Given the description of an element on the screen output the (x, y) to click on. 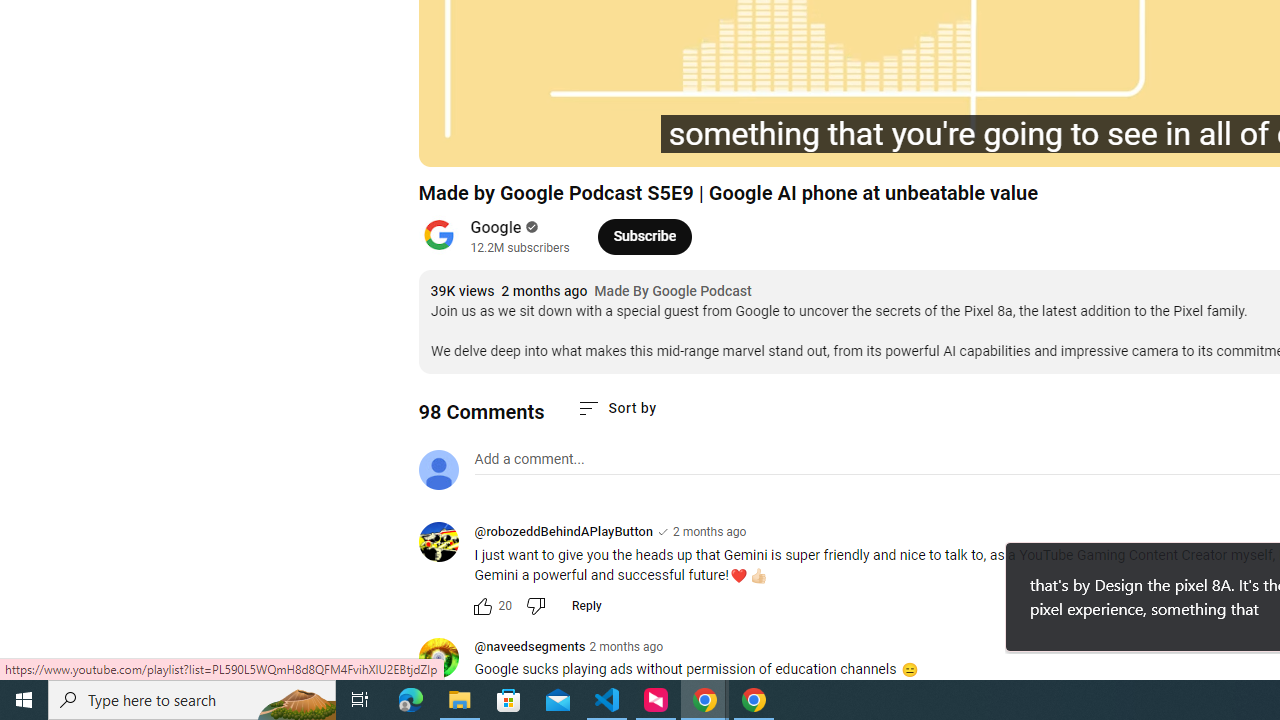
@naveedsegments (446, 659)
Dislike this comment (534, 605)
@naveedsegments (529, 647)
Mute (m) (594, 142)
Like this comment along with 20 other people (482, 605)
Previous (SHIFT+p) (456, 142)
Pause (k) (502, 142)
Reply (586, 605)
Made By Google Podcast (672, 291)
Default profile photo (438, 470)
@robozeddBehindAPlayButton (446, 543)
Subscribe to Google. (644, 236)
